Given the description of an element on the screen output the (x, y) to click on. 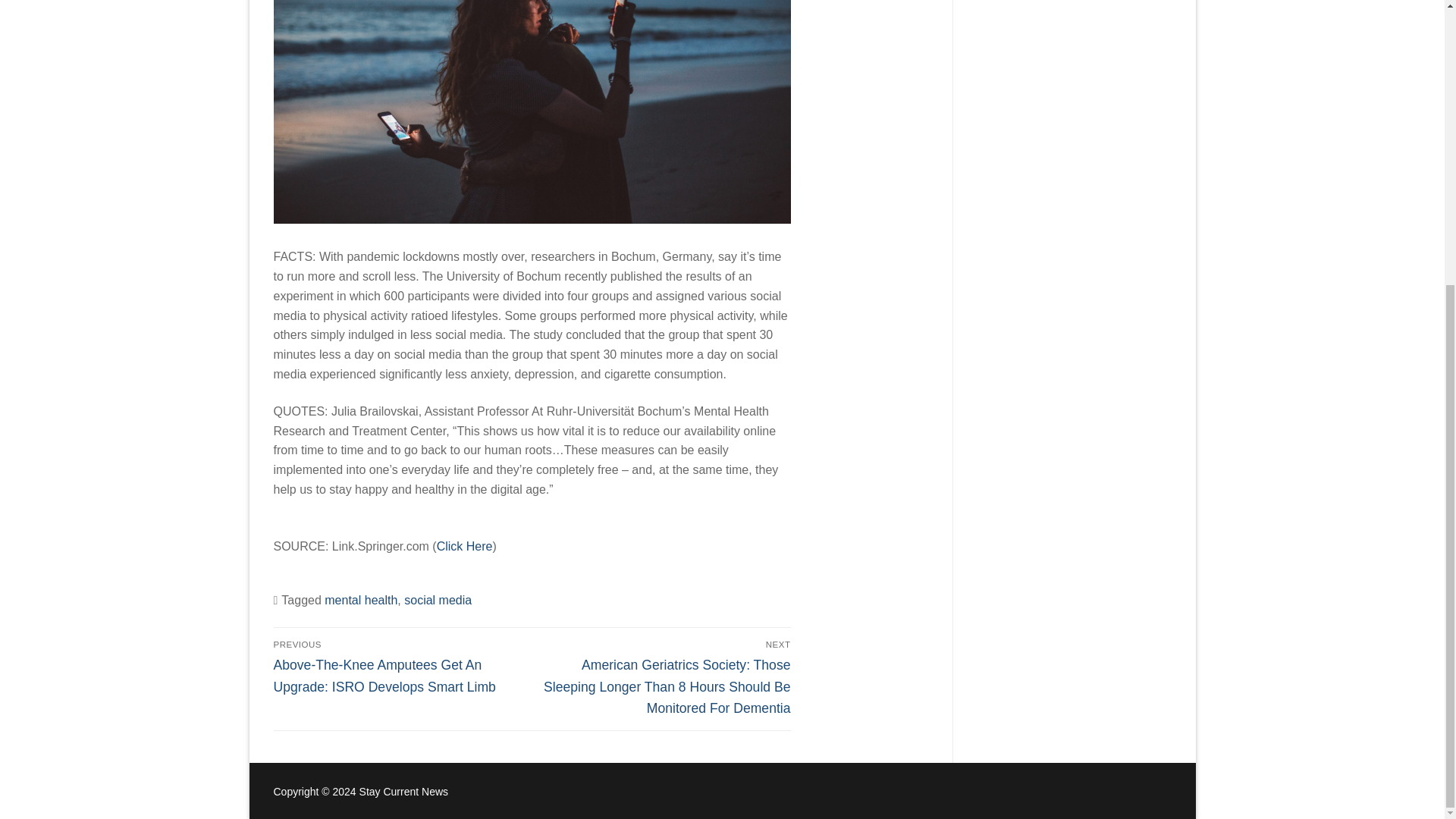
social media (437, 599)
Click Here (464, 545)
mental health (360, 599)
